Given the description of an element on the screen output the (x, y) to click on. 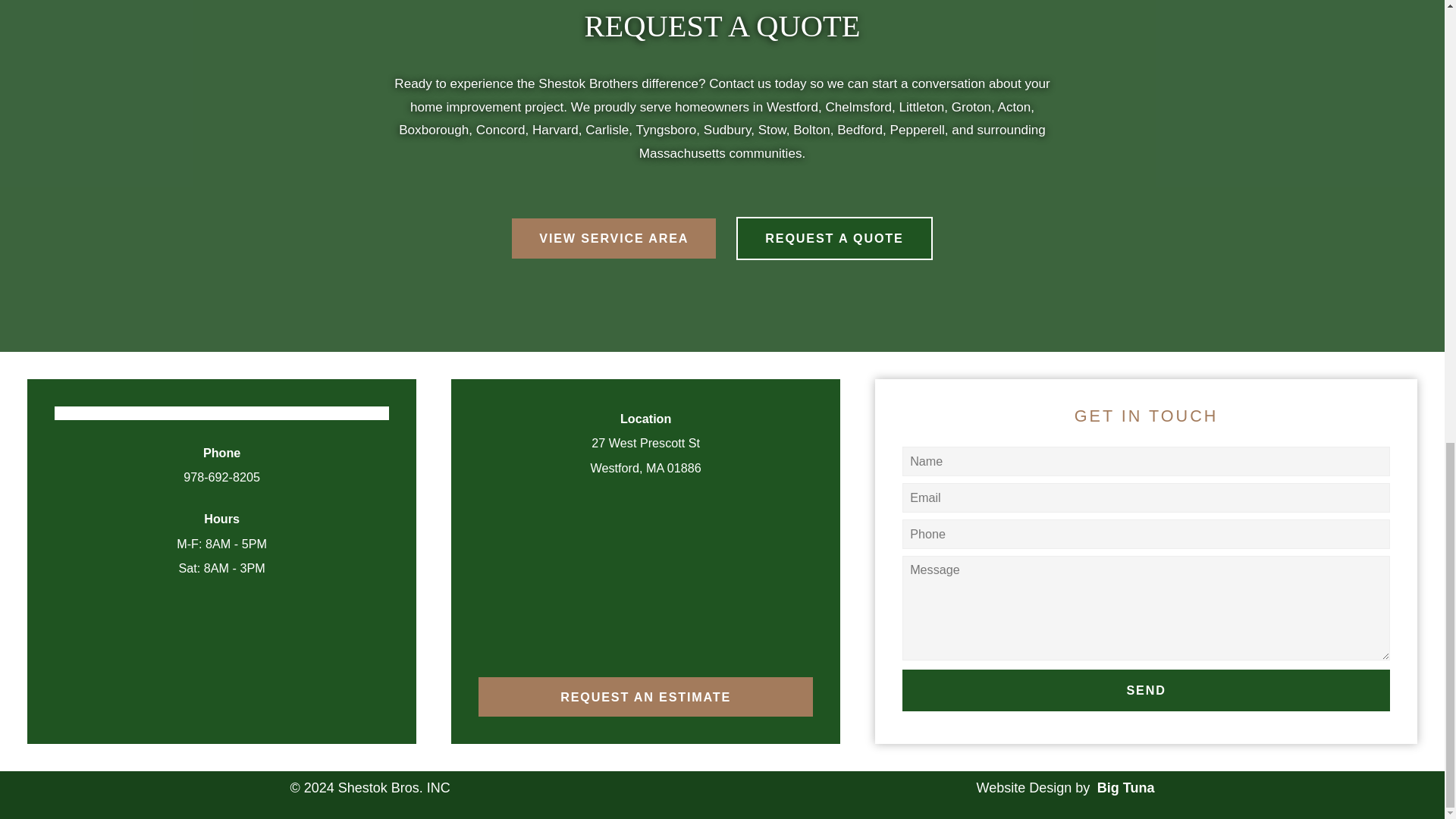
REQUEST AN ESTIMATE (645, 696)
Send (1146, 690)
Send (1146, 690)
978-692-8205 (221, 477)
VIEW SERVICE AREA (614, 237)
REQUEST A QUOTE (833, 238)
Big Tuna (1123, 787)
